Given the description of an element on the screen output the (x, y) to click on. 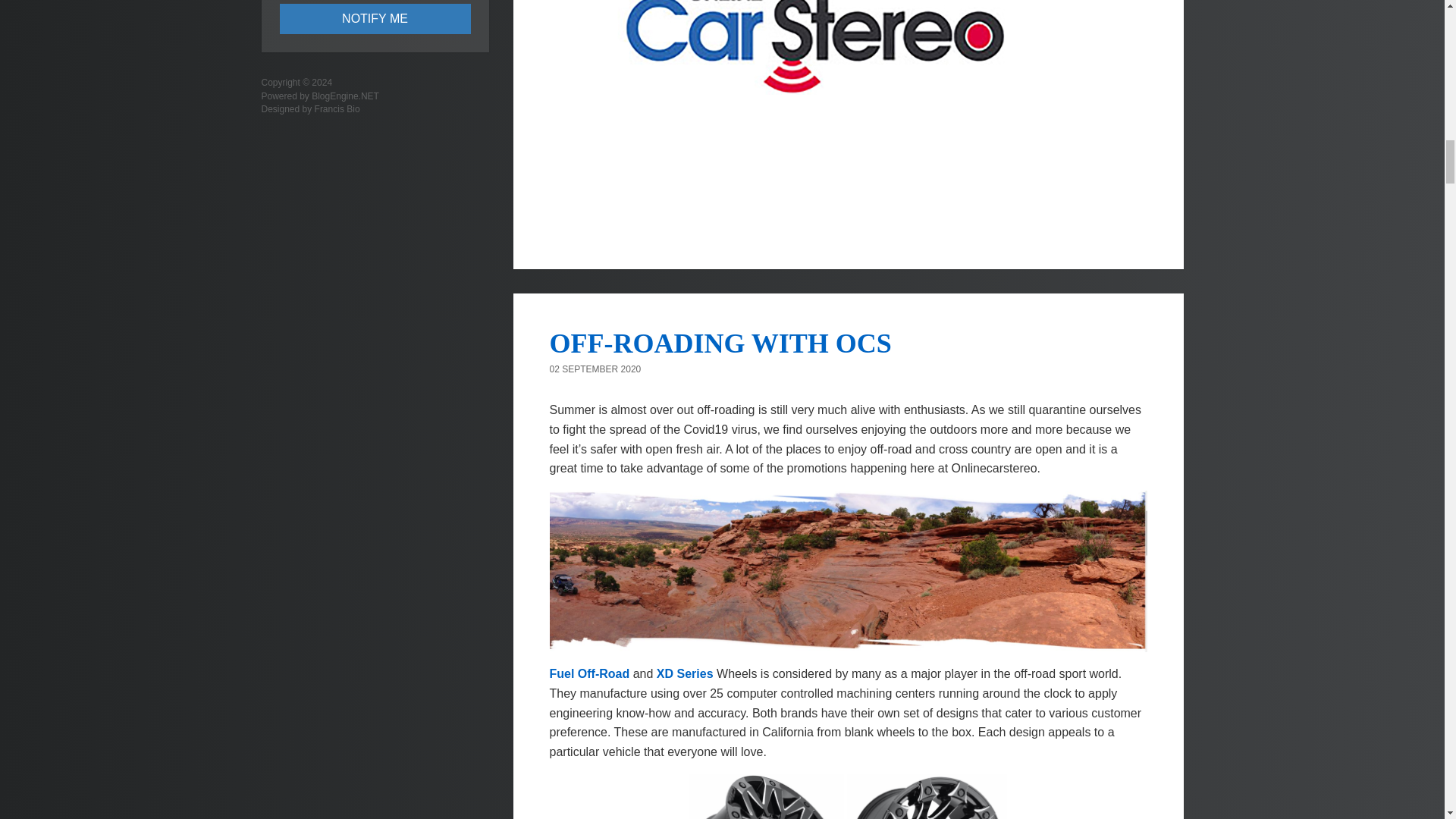
Notify me (374, 19)
